Given the description of an element on the screen output the (x, y) to click on. 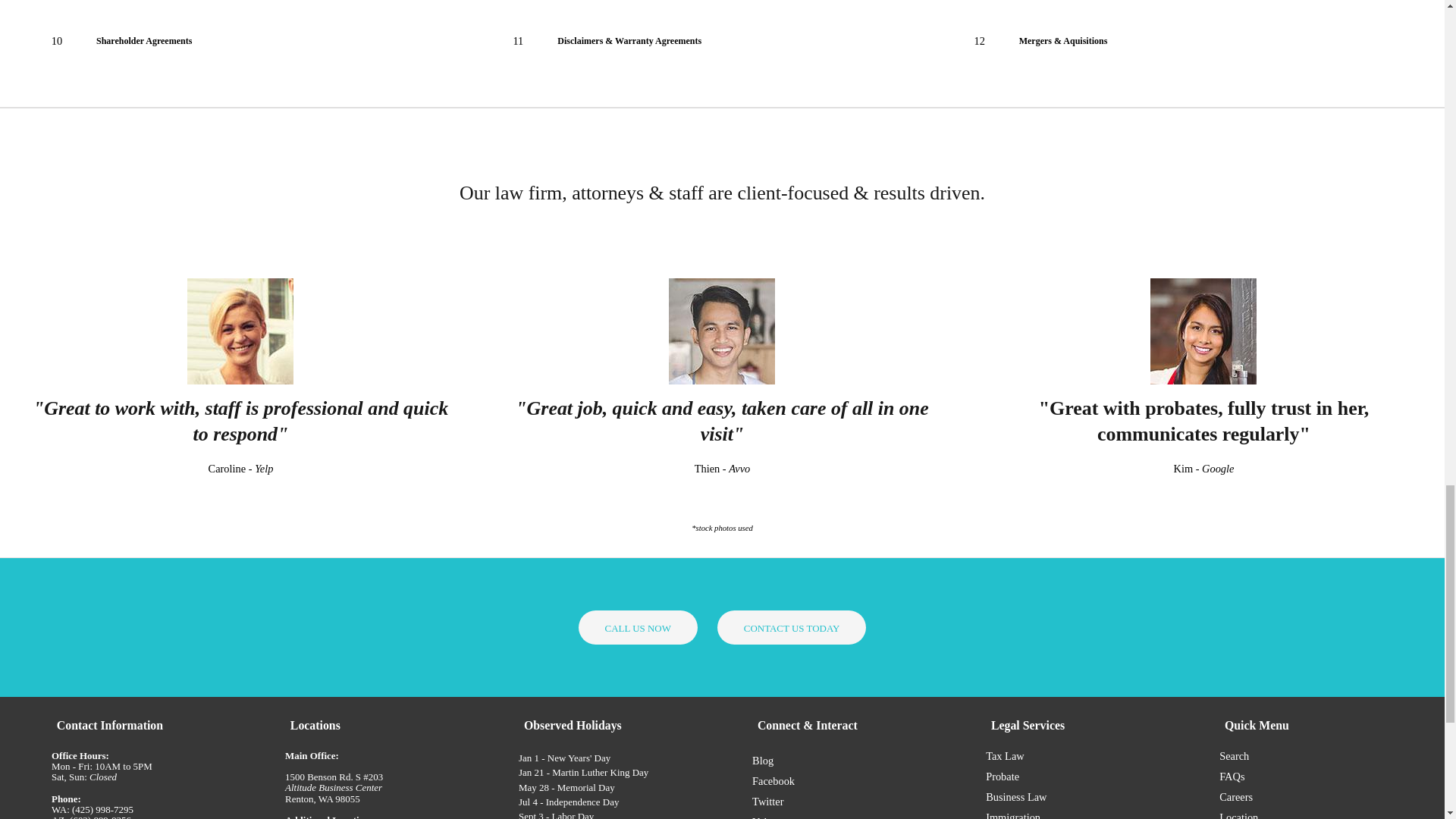
CALL US NOW (637, 627)
